Given the description of an element on the screen output the (x, y) to click on. 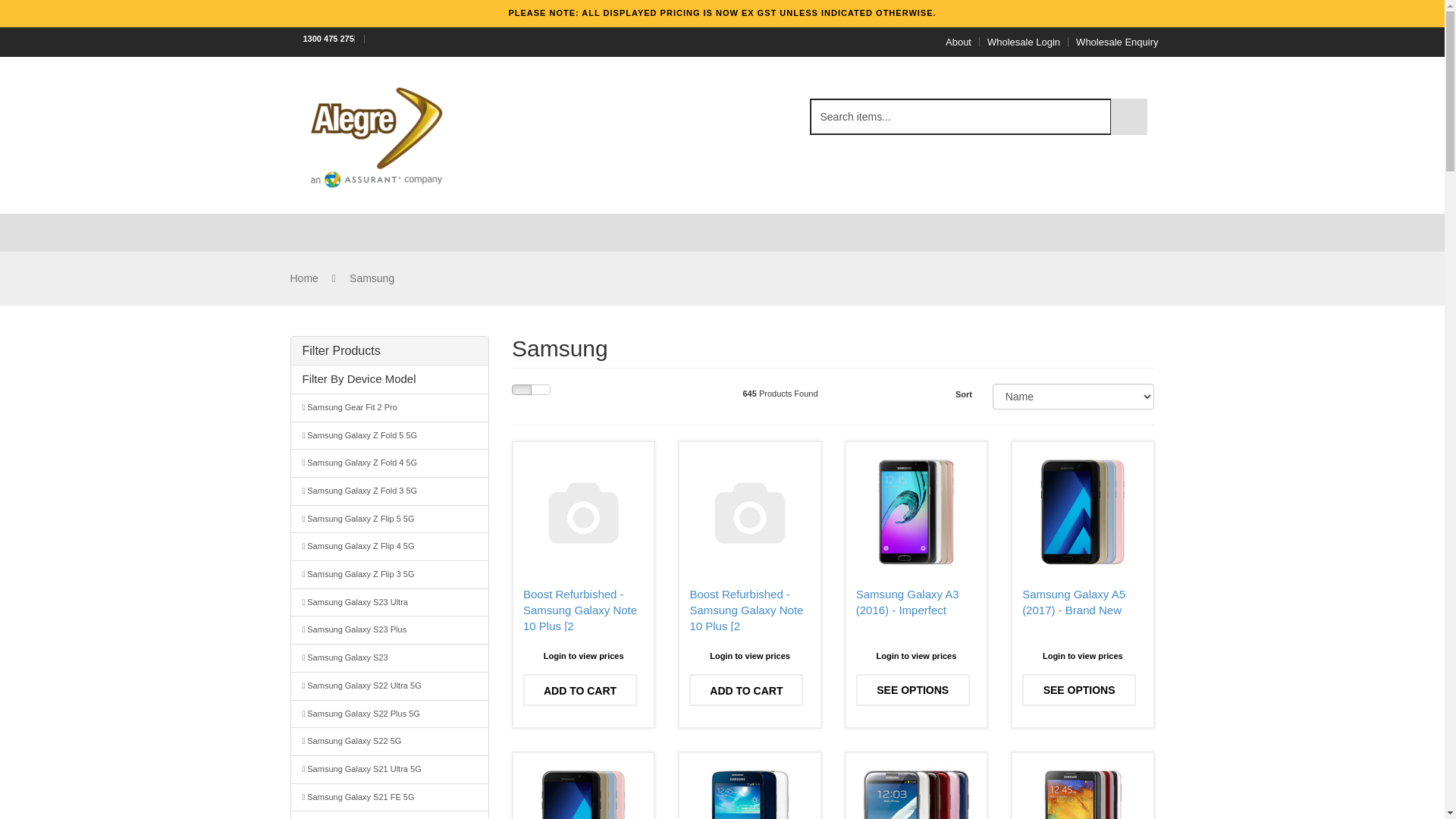
Login to view prices Element type: text (916, 656)
Filter Products Element type: text (388, 350)
Boost Refurbished - Samsung Galaxy Note 10 Plus [2 Element type: text (580, 609)
Wholesale Login Element type: text (1023, 42)
Login to view prices Element type: text (1082, 656)
Samsung Galaxy A5 (2017) - Brand New Element type: text (1073, 601)
Boost Refurbished - Samsung Galaxy Note 10 Plus [2 Element type: text (746, 609)
Samsung Galaxy Z Flip 4 5G Element type: text (390, 546)
Search Element type: text (1128, 116)
Samsung Galaxy Z Flip 5 5G Element type: text (390, 519)
Samsung Galaxy S23 Plus Element type: text (390, 629)
Login to view prices Element type: text (749, 656)
ADD TO CART Element type: text (580, 690)
Samsung Galaxy S22 Plus 5G Element type: text (390, 713)
About Element type: text (958, 42)
SEE OPTIONS Element type: text (912, 690)
Samsung Galaxy A3 (2016) - Imperfect Element type: text (907, 601)
Samsung Galaxy Z Fold 4 5G Element type: text (390, 462)
Samsung Gear Fit 2 Pro Element type: text (390, 407)
Samsung Galaxy S22 5G Element type: text (390, 741)
Samsung Galaxy S22 Ultra 5G Element type: text (390, 685)
Samsung Galaxy S21 FE 5G Element type: text (390, 797)
Alegre Pty Ltd Element type: hover (375, 133)
Samsung Galaxy Z Fold 3 5G Element type: text (390, 490)
ADD TO CART Element type: text (746, 690)
Login to view prices Element type: text (583, 656)
Samsung Galaxy Z Fold 5 5G Element type: text (390, 435)
Wholesale Enquiry Element type: text (1116, 42)
Samsung Element type: text (371, 278)
Samsung Galaxy Z Flip 3 5G Element type: text (390, 574)
Samsung Galaxy S23 Element type: text (390, 657)
Samsung Galaxy S23 Ultra Element type: text (390, 602)
Home Element type: text (303, 278)
Samsung Galaxy S21 Ultra 5G Element type: text (390, 769)
SEE OPTIONS Element type: text (1078, 690)
